Given the description of an element on the screen output the (x, y) to click on. 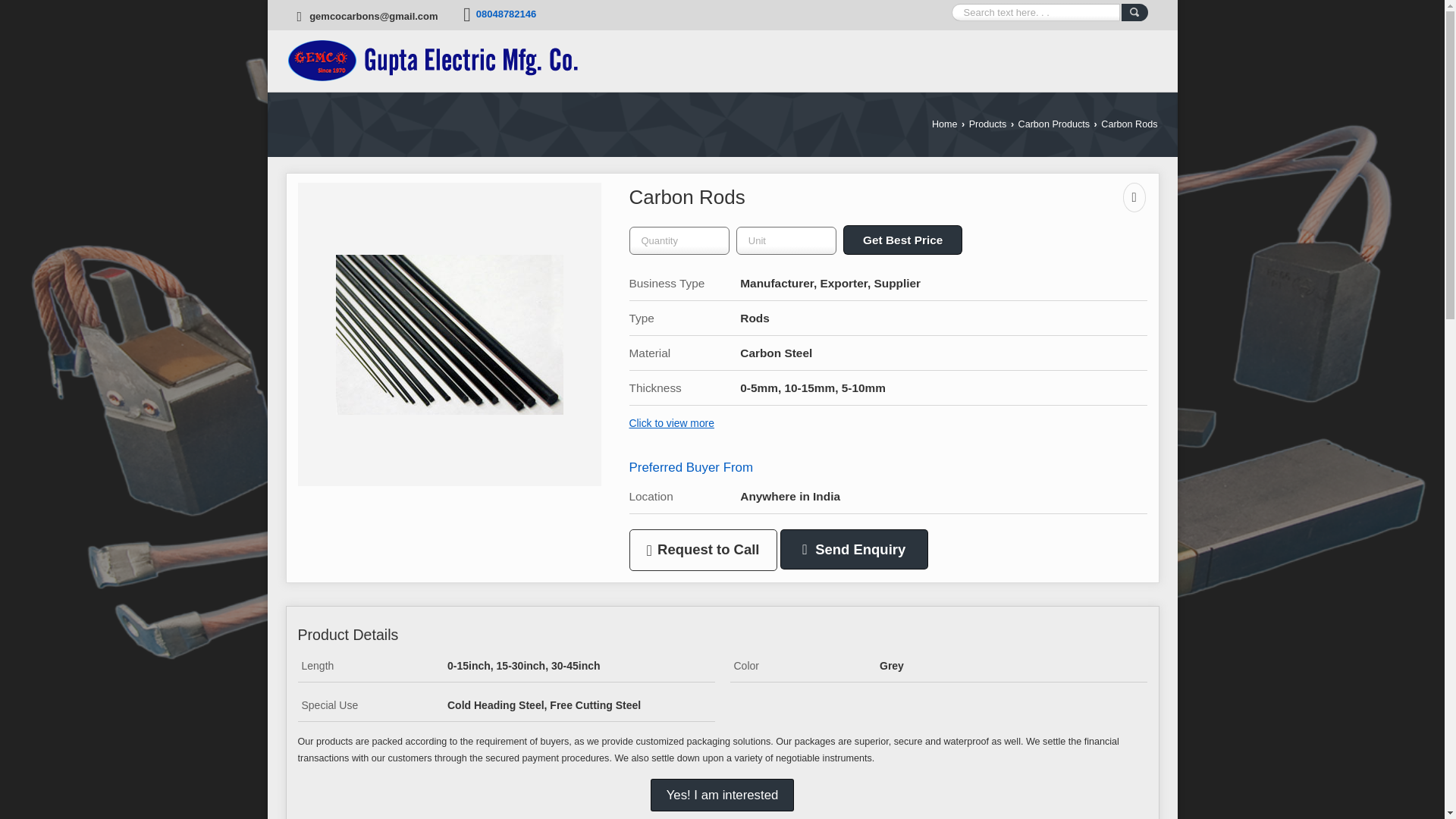
Request to Call (702, 549)
Yes! I am interested (722, 794)
Carbon Rods (448, 334)
Gupta Electric Mfg. Co. (430, 60)
Click to view more (671, 422)
Gupta Electric Mfg. Co. (430, 61)
